Given the description of an element on the screen output the (x, y) to click on. 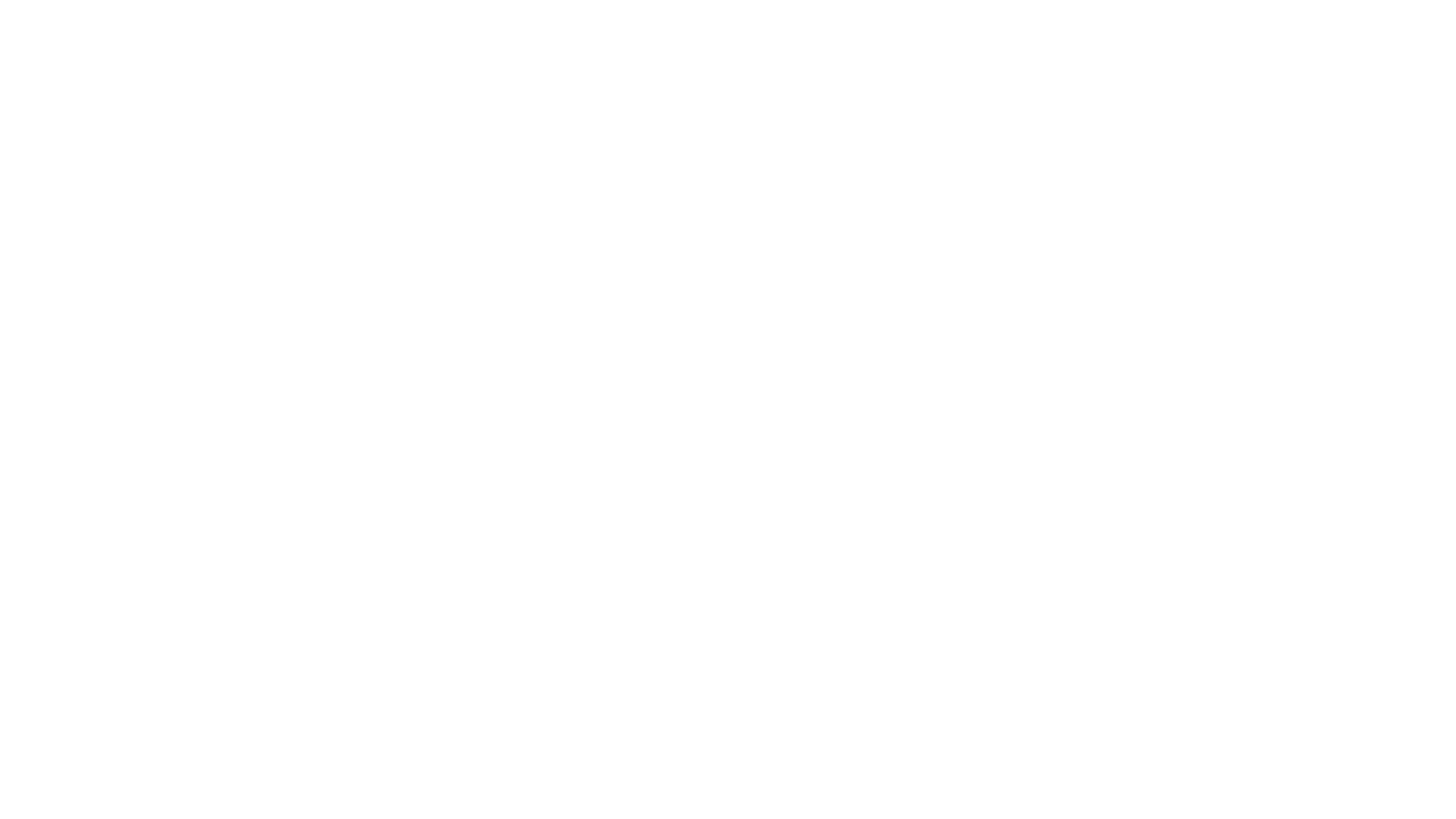
ABOUT Element type: text (629, 353)
TOP Element type: text (588, 44)
ACCESS Element type: text (1137, 44)
TOP Element type: text (446, 353)
ACCESS Element type: text (996, 353)
NEWS Element type: text (533, 353)
PHOTO GALLERY Element type: text (857, 353)
instagram Element type: text (1366, 45)
NEWS Element type: text (675, 44)
ABOUT Element type: text (771, 44)
MENU Element type: text (726, 353)
PHOTO GALLERY Element type: text (999, 44)
MENU Element type: text (868, 44)
